Given the description of an element on the screen output the (x, y) to click on. 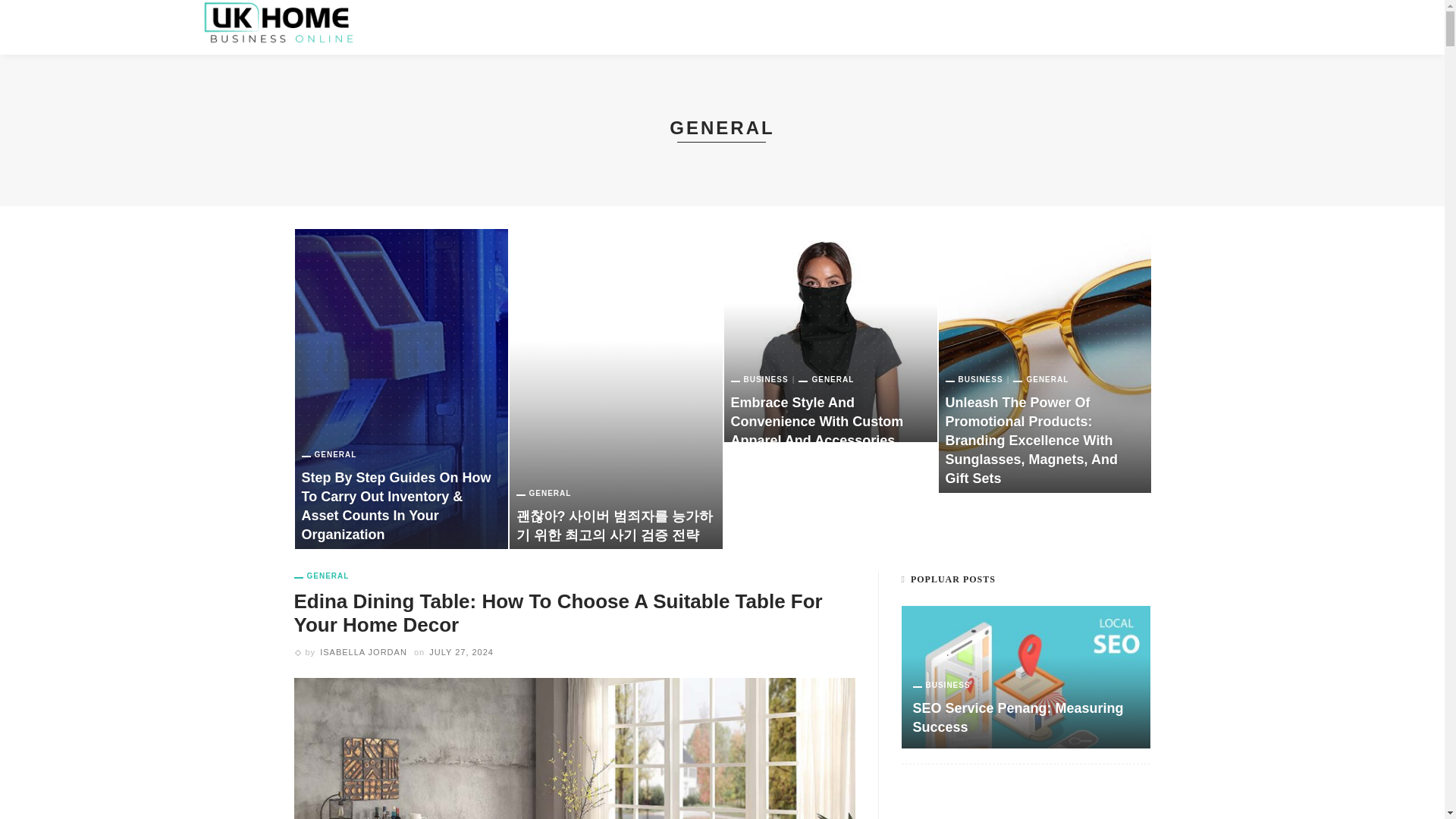
HOME (411, 27)
BUSINESS (483, 27)
Home Business Online (278, 21)
BLOG (550, 27)
WRITE FOR US (635, 27)
